Given the description of an element on the screen output the (x, y) to click on. 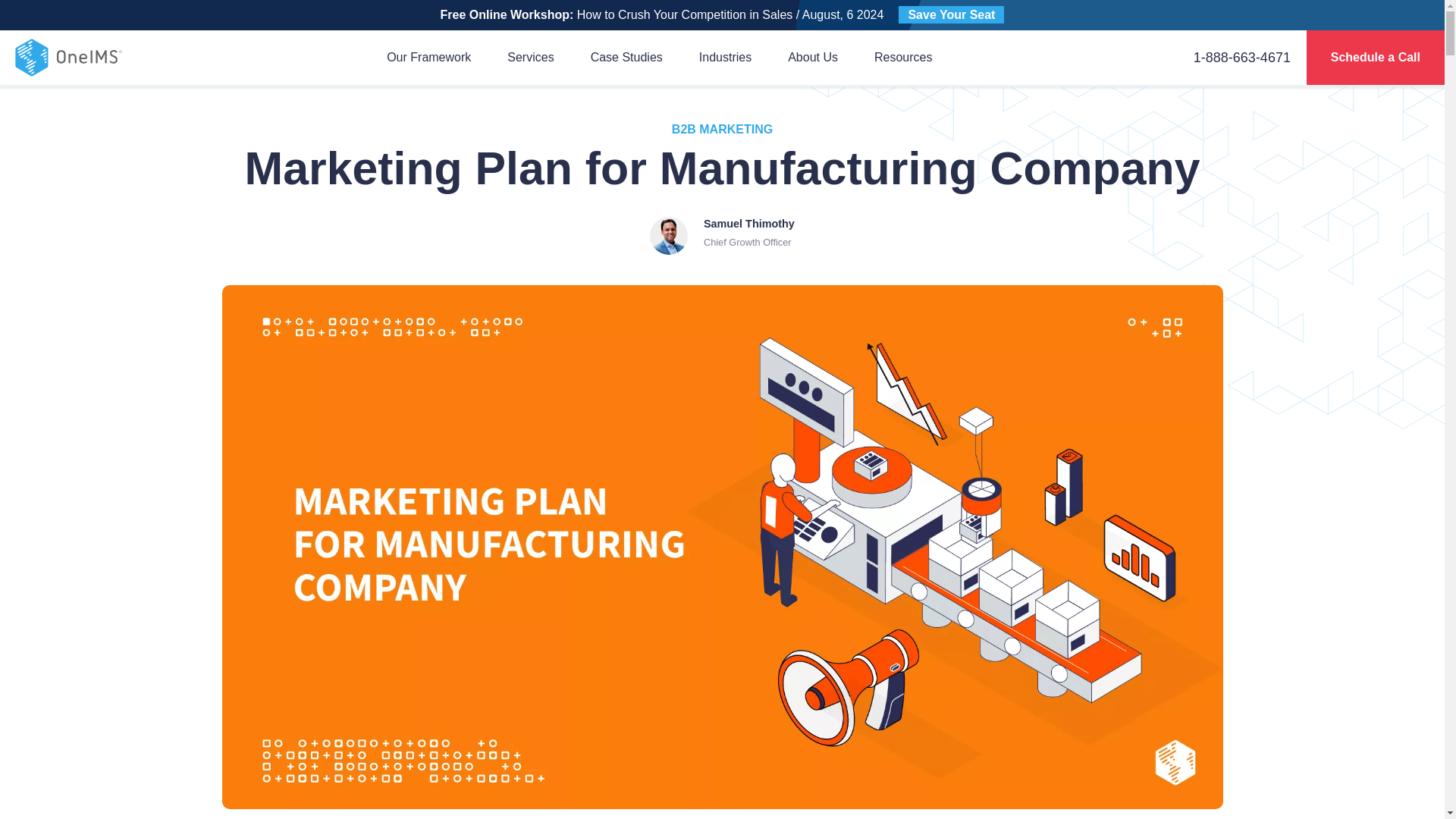
Services (529, 56)
Our Framework (428, 56)
Save Your Seat (951, 14)
